Given the description of an element on the screen output the (x, y) to click on. 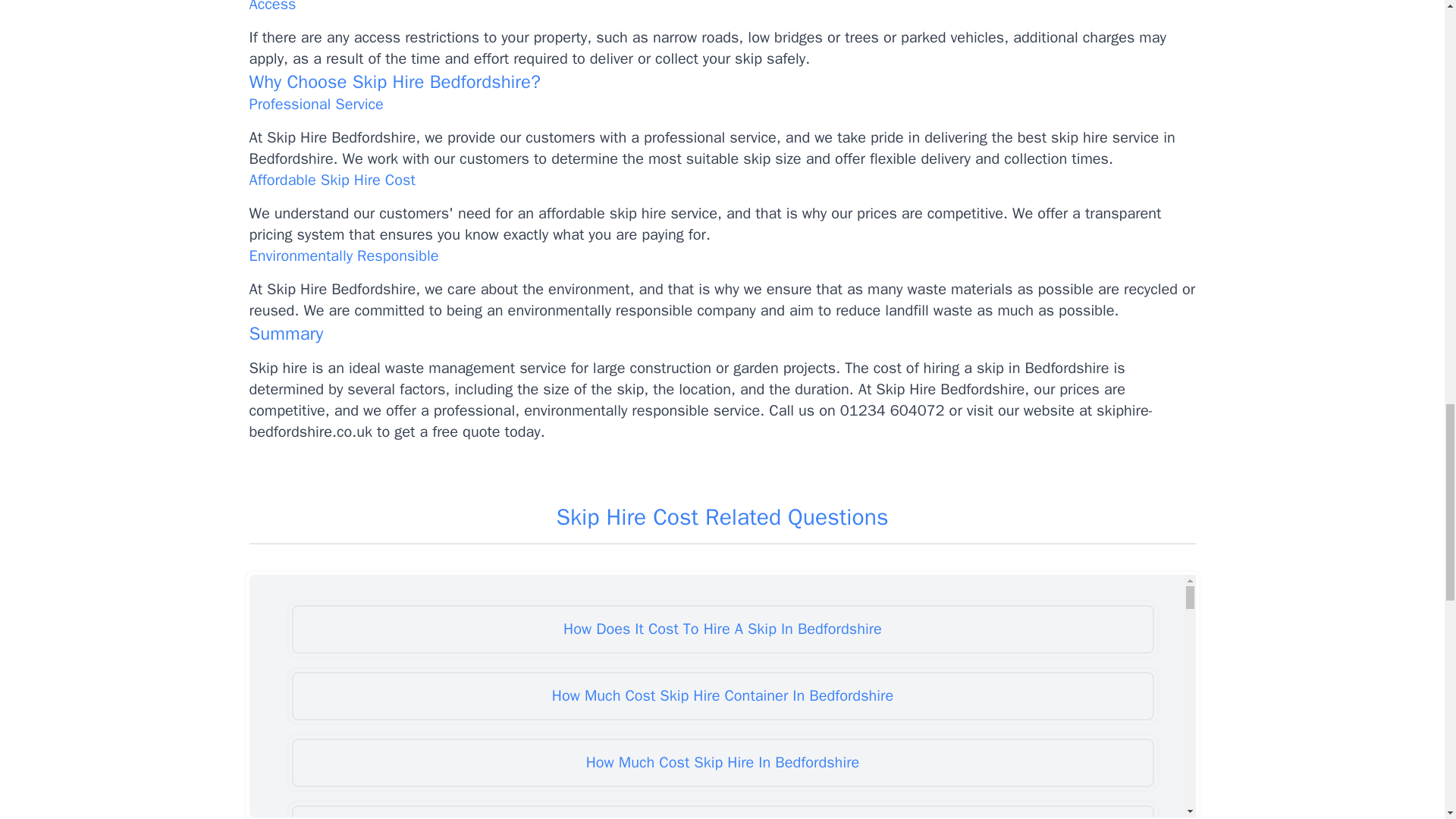
How Does It Cost To Hire A Skip In Bedfordshire (722, 629)
How Much Cost Skip Hire In Bedfordshire (722, 762)
How Much Cost Skip Hire Container In Bedfordshire (722, 695)
How Much Cost To Hire A Skip In Bedfordshire (722, 812)
